Given the description of an element on the screen output the (x, y) to click on. 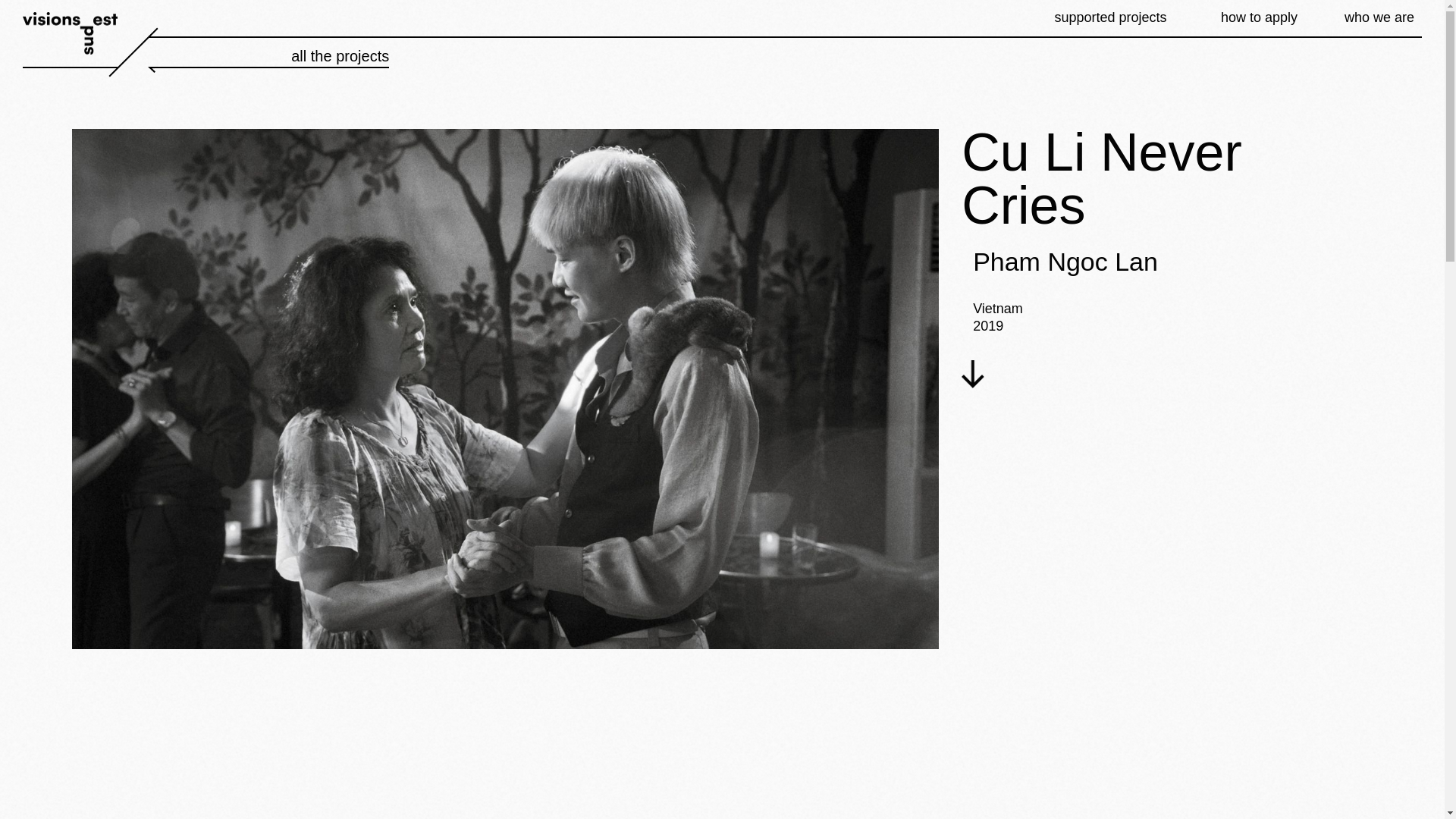
supported projects (1109, 18)
who we are (1378, 18)
all the projects (268, 51)
how to apply (1258, 18)
